Given the description of an element on the screen output the (x, y) to click on. 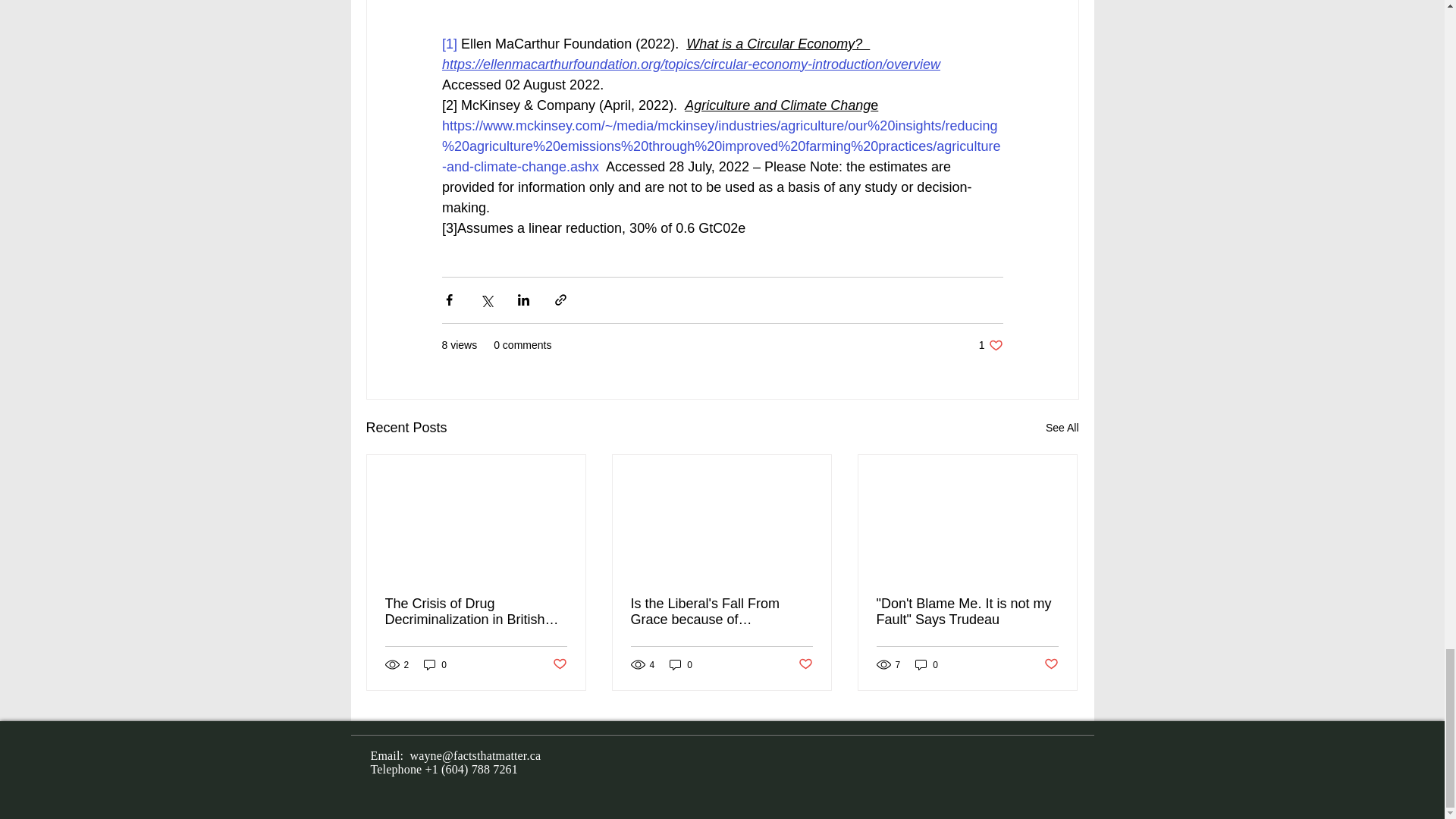
0 (926, 664)
Post not marked as liked (804, 664)
0 (435, 664)
See All (990, 345)
0 (1061, 427)
Post not marked as liked (681, 664)
"Don't Blame Me. It is not my Fault" Says Trudeau (558, 664)
The Crisis of Drug Decriminalization in British Columbia (967, 612)
